Given the description of an element on the screen output the (x, y) to click on. 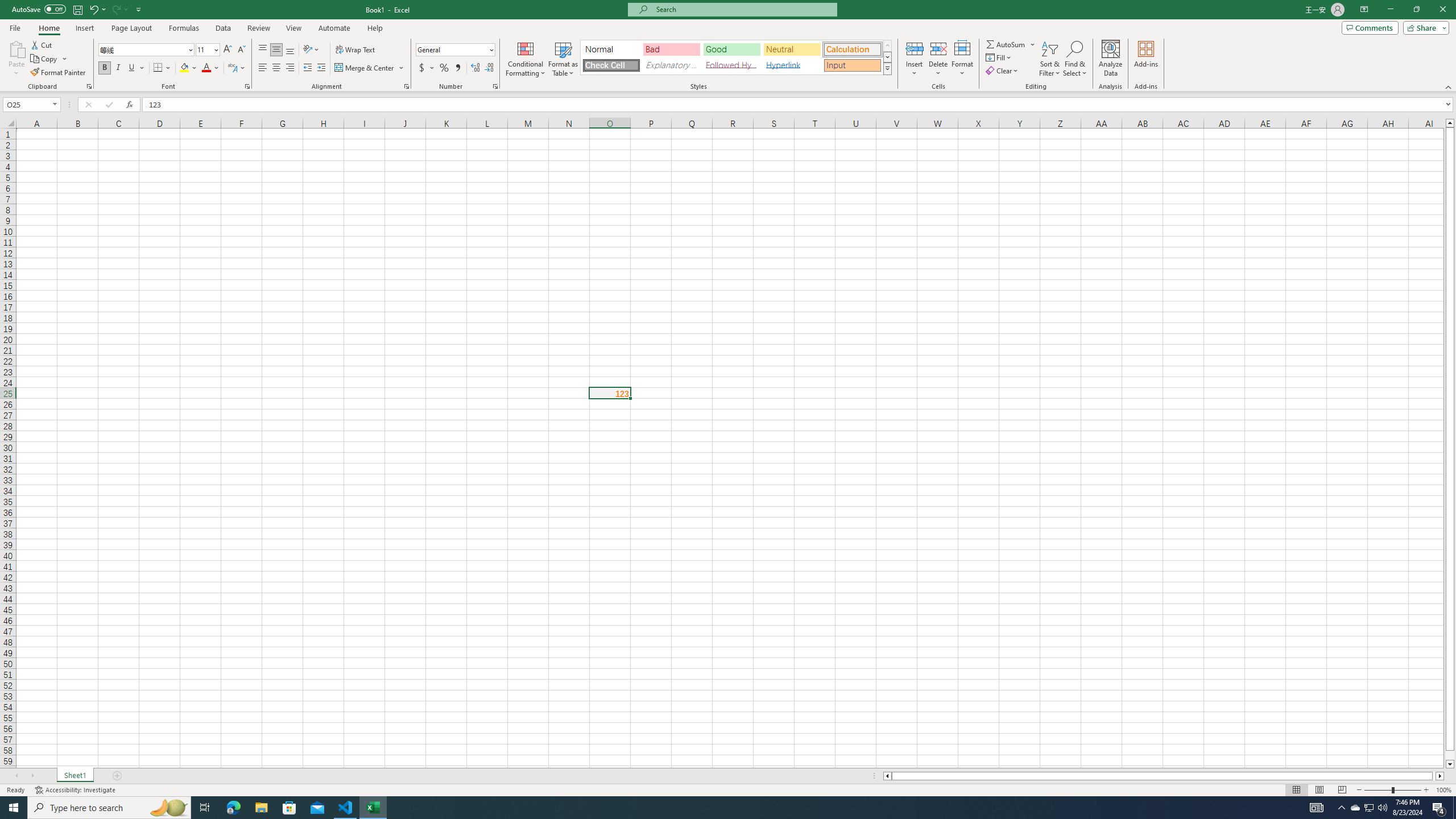
Italic (118, 67)
Delete Cells... (938, 48)
Input (852, 65)
AutoSum (1011, 44)
Font (147, 49)
Number Format (451, 49)
Orientation (311, 49)
Sort & Filter (1049, 58)
Format Cell Alignment (405, 85)
